Given the description of an element on the screen output the (x, y) to click on. 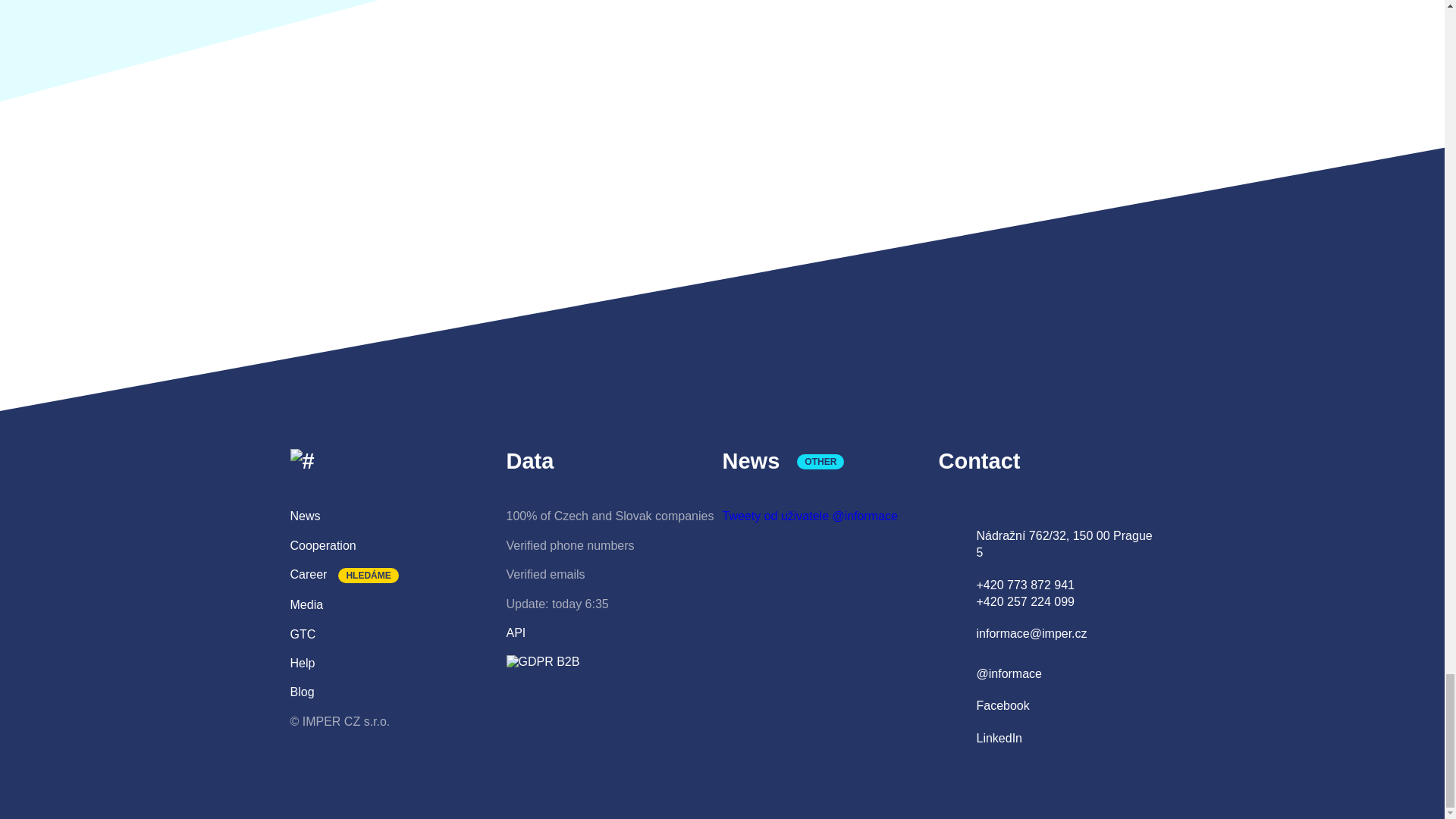
API (515, 632)
Media (306, 604)
GTC (302, 634)
LinkedIn (999, 738)
Help (301, 662)
OTHER (820, 461)
News (304, 515)
Cooperation (322, 545)
Facebook (1002, 705)
Blog (301, 691)
Career (307, 574)
